Given the description of an element on the screen output the (x, y) to click on. 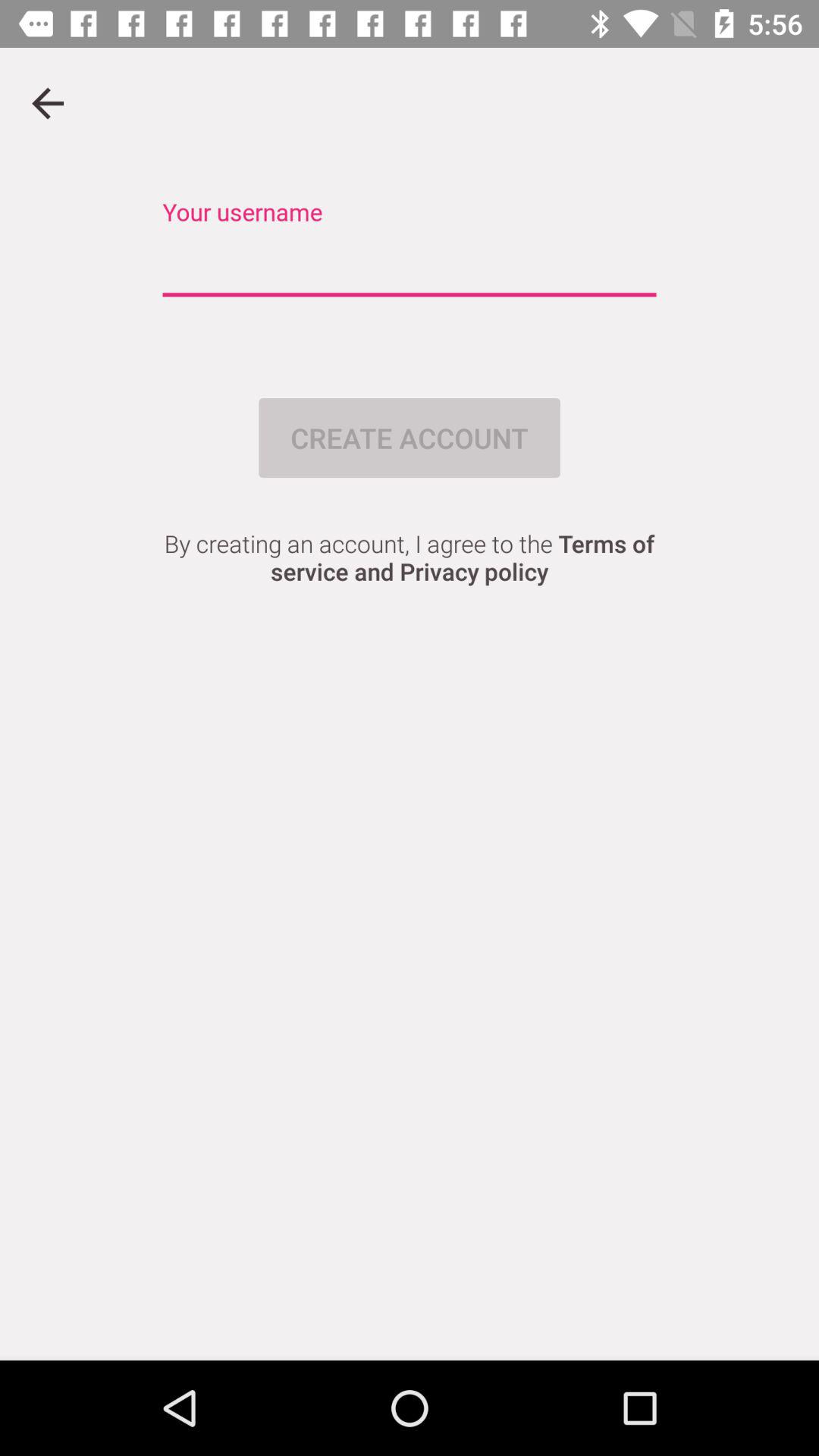
enter username (409, 265)
